Given the description of an element on the screen output the (x, y) to click on. 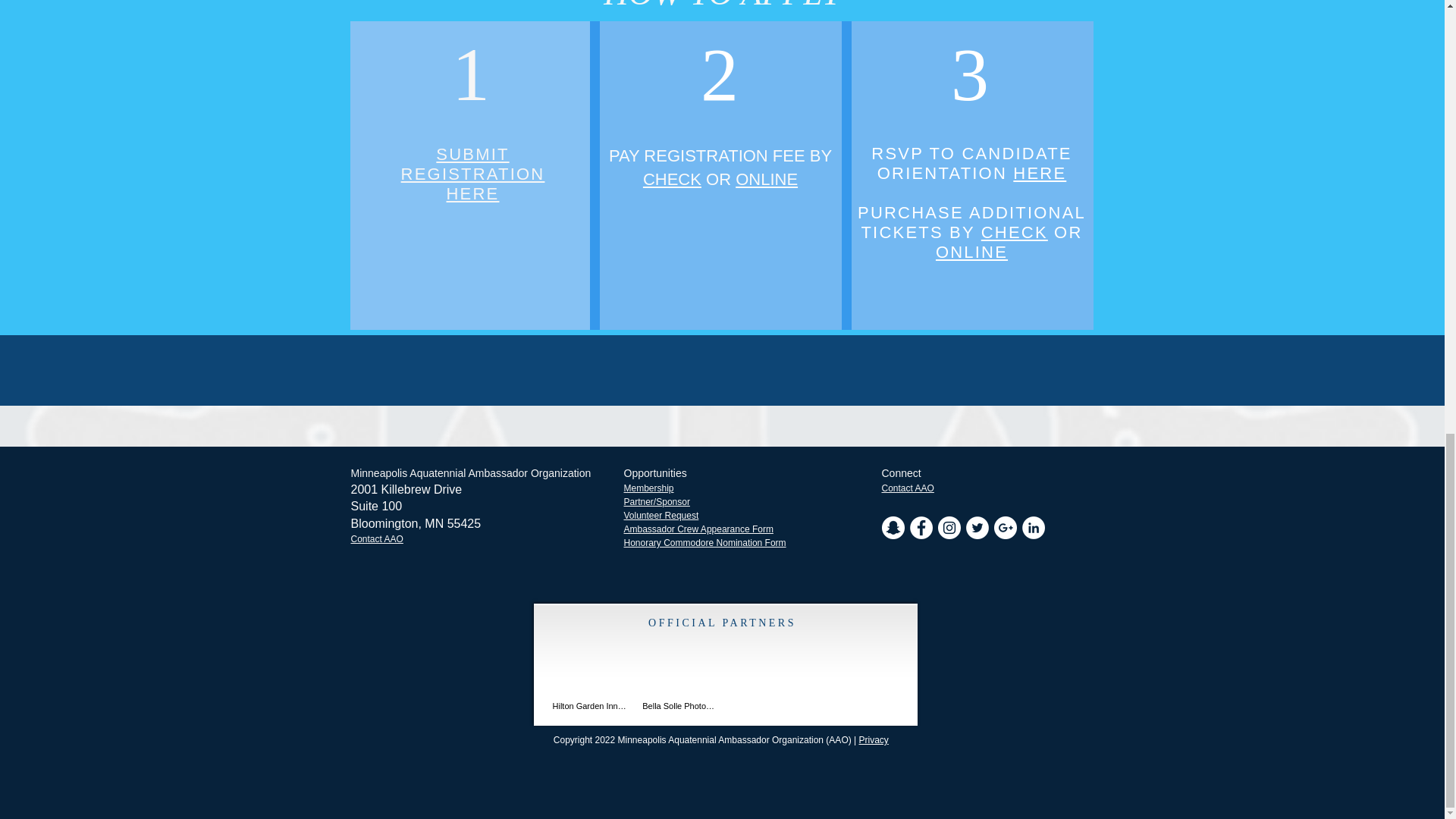
ONLINE (766, 179)
ONLINE (472, 173)
CHECK (971, 251)
CHECK (672, 179)
HERE (1014, 231)
